Given the description of an element on the screen output the (x, y) to click on. 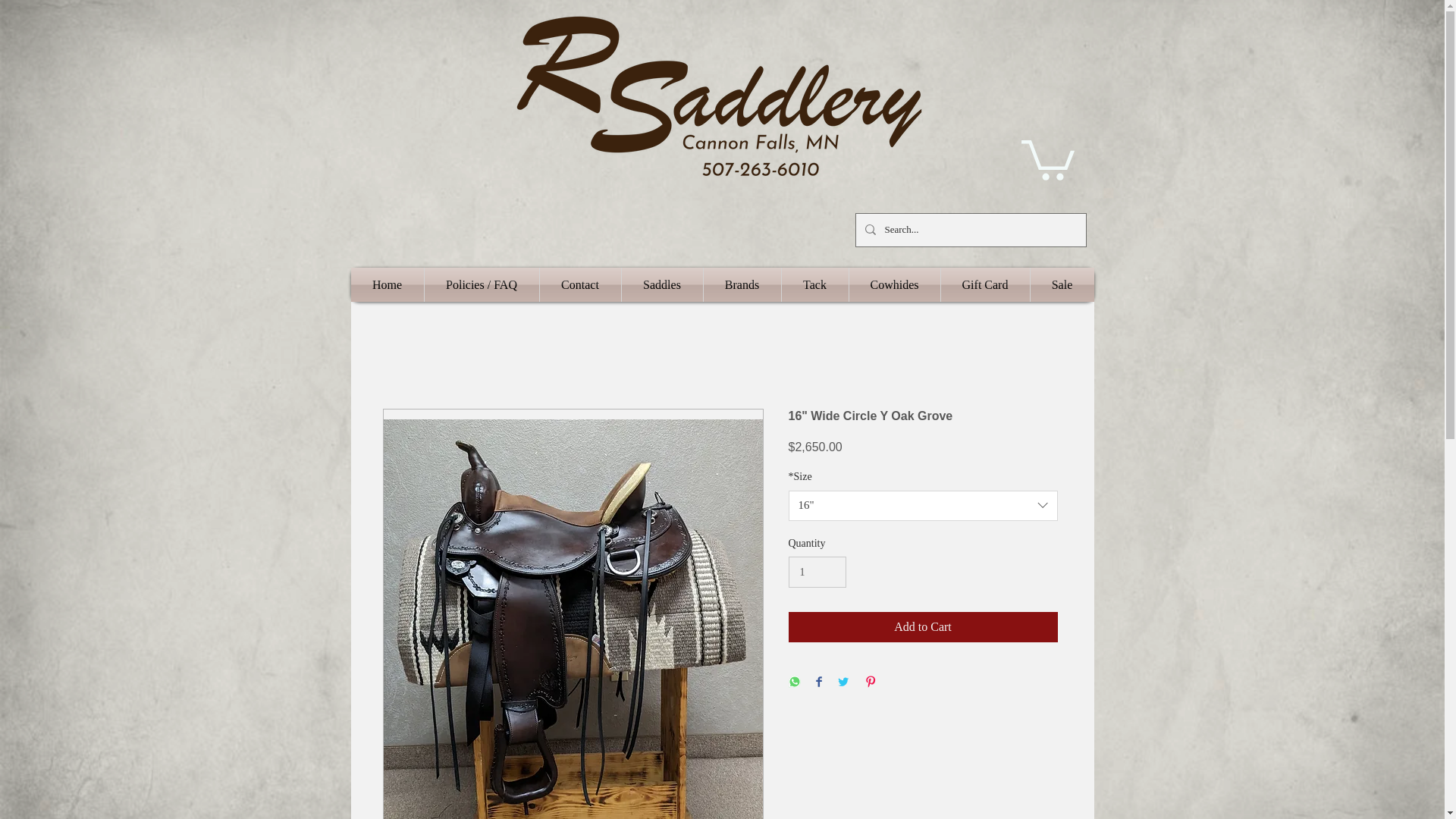
Home (386, 284)
1 (817, 572)
